Given the description of an element on the screen output the (x, y) to click on. 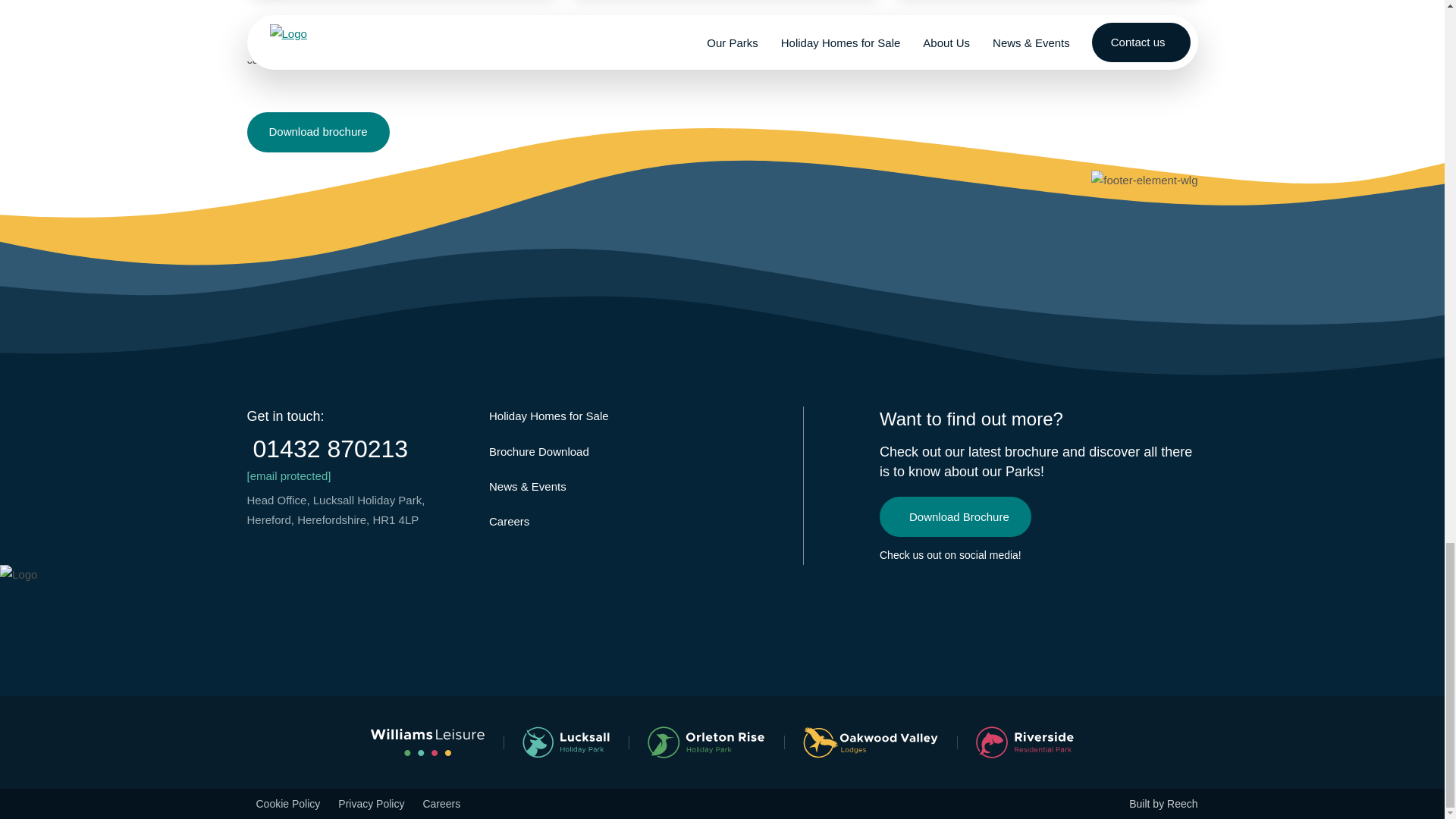
Brochure Download (539, 451)
Full Service Marketing Agency (1162, 803)
Holiday Homes for Sale (548, 415)
Download brochure (318, 132)
01432 870213 (359, 448)
Download Brochure (954, 516)
Careers (509, 521)
